Given the description of an element on the screen output the (x, y) to click on. 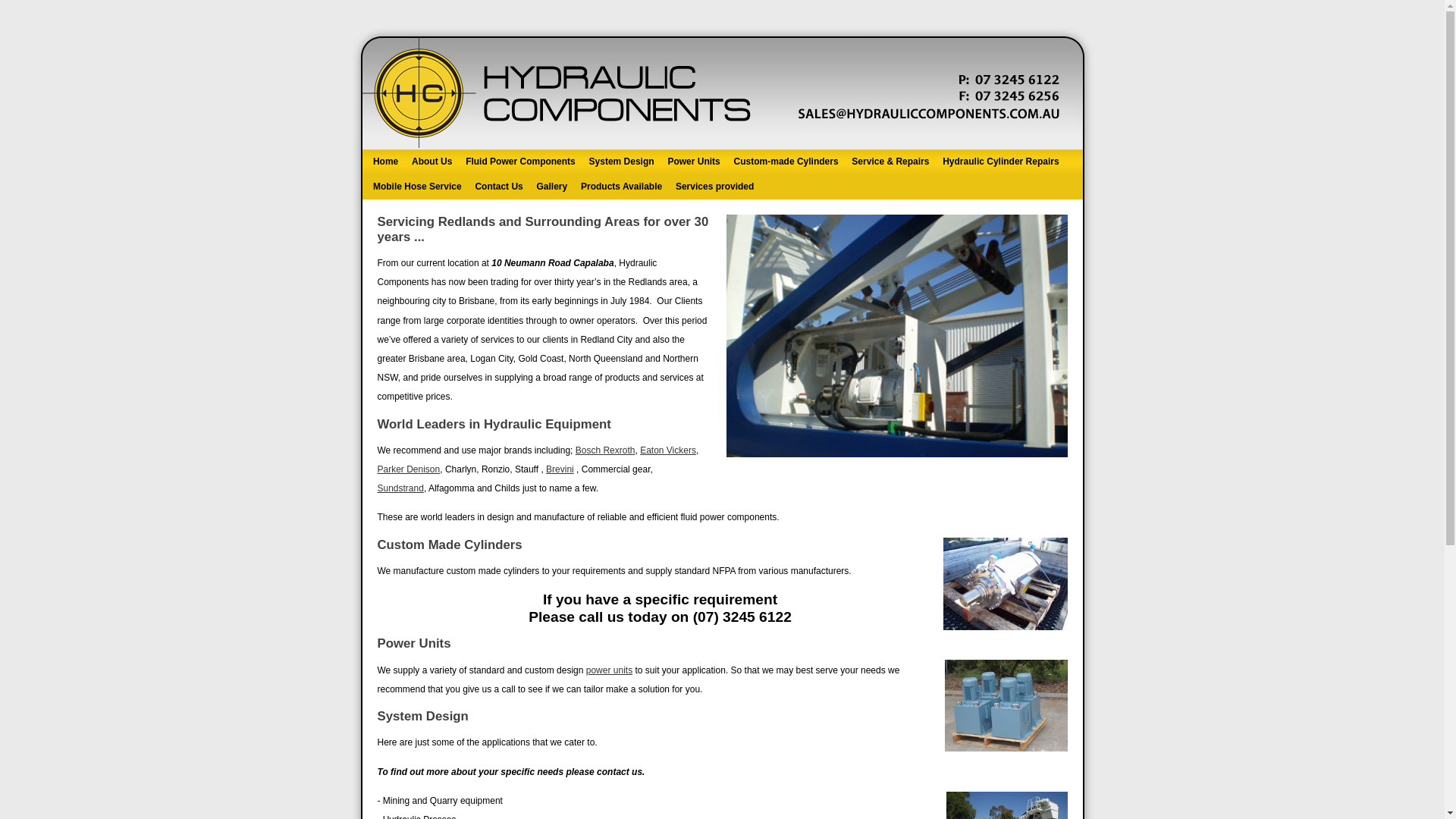
Home Element type: text (385, 161)
System Design Element type: text (621, 161)
Products Available Element type: text (621, 186)
About Us Element type: text (431, 161)
Gallery Element type: text (551, 186)
Bosch Rexroth Element type: text (605, 450)
Eaton Vickers Element type: text (668, 450)
Sundstrand Element type: text (400, 488)
Custom Made Cylinder Element type: hover (1005, 583)
Hydraulic Cylinder Repairs Element type: text (1000, 161)
Power Unit Element type: hover (1005, 705)
Brevini Element type: text (560, 469)
Mobile Hose Service Element type: text (417, 186)
Fluid Power Components Element type: text (520, 161)
Services provided Element type: text (714, 186)
Custom-made Cylinders Element type: text (785, 161)
Service & Repairs Element type: text (890, 161)
Parker Denison Element type: text (408, 469)
power units Element type: text (609, 670)
Contact Us Element type: text (498, 186)
Power Units Element type: text (693, 161)
